Given the description of an element on the screen output the (x, y) to click on. 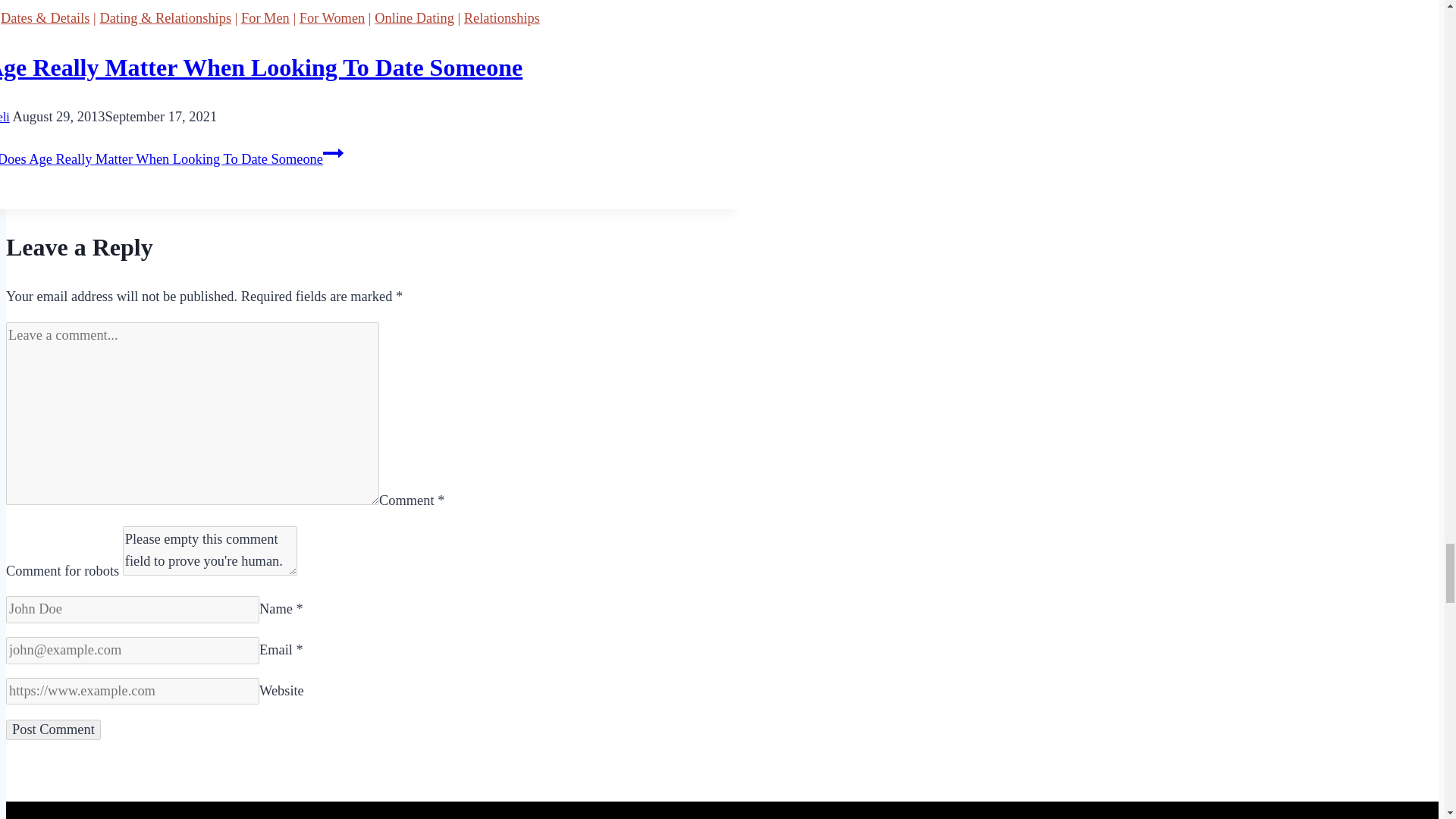
Post Comment (52, 729)
